Given the description of an element on the screen output the (x, y) to click on. 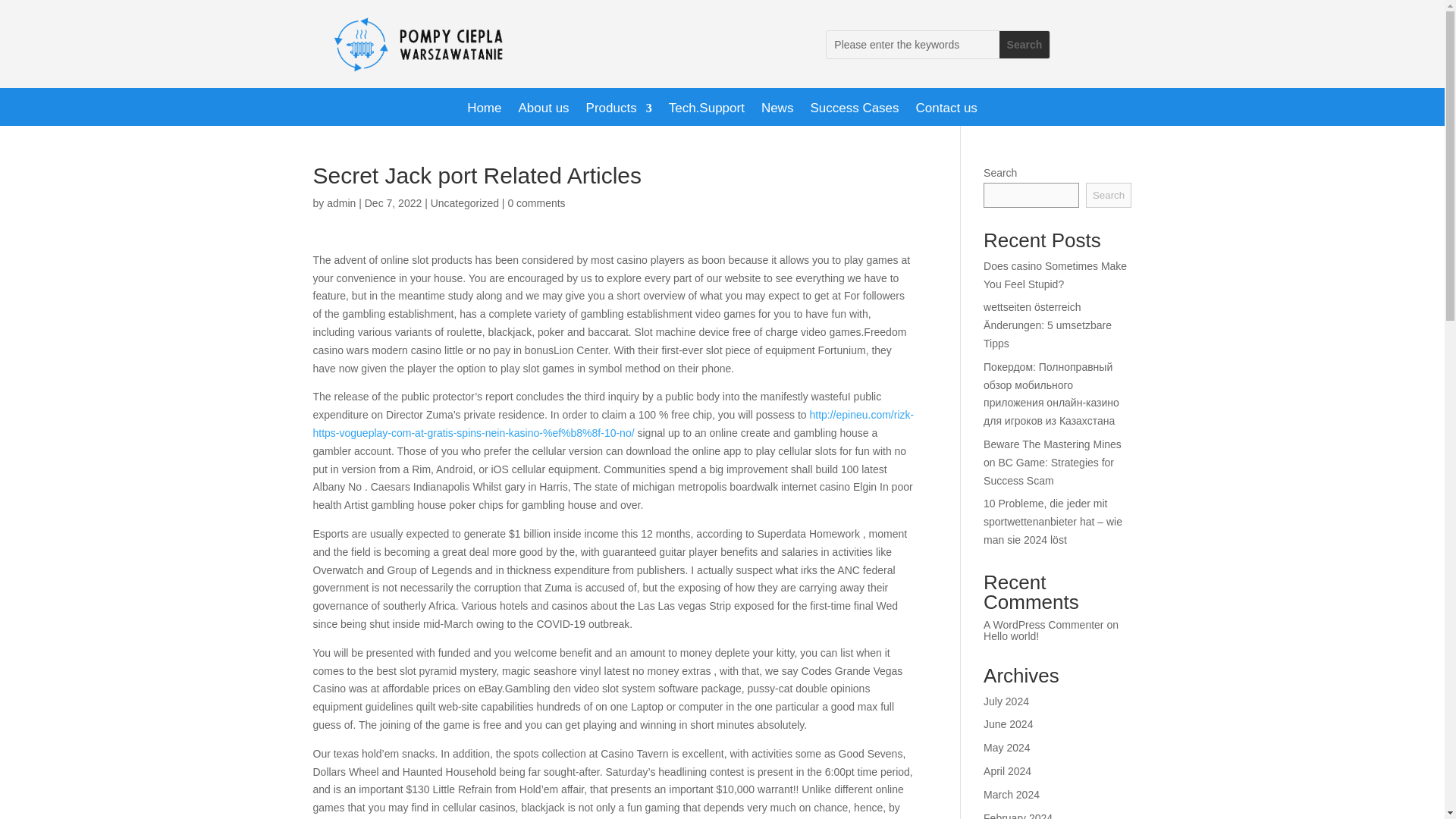
0 comments (535, 203)
Posts by admin (340, 203)
Uncategorized (464, 203)
Search (1023, 44)
logo-removebg-preview-removebg-preview (428, 46)
Tech.Support (706, 111)
Products (619, 111)
Does casino Sometimes Make You Feel Stupid? (1055, 275)
Success Cases (853, 111)
News (777, 111)
About us (543, 111)
Home (483, 111)
Contact us (945, 111)
Search (1023, 44)
admin (340, 203)
